Given the description of an element on the screen output the (x, y) to click on. 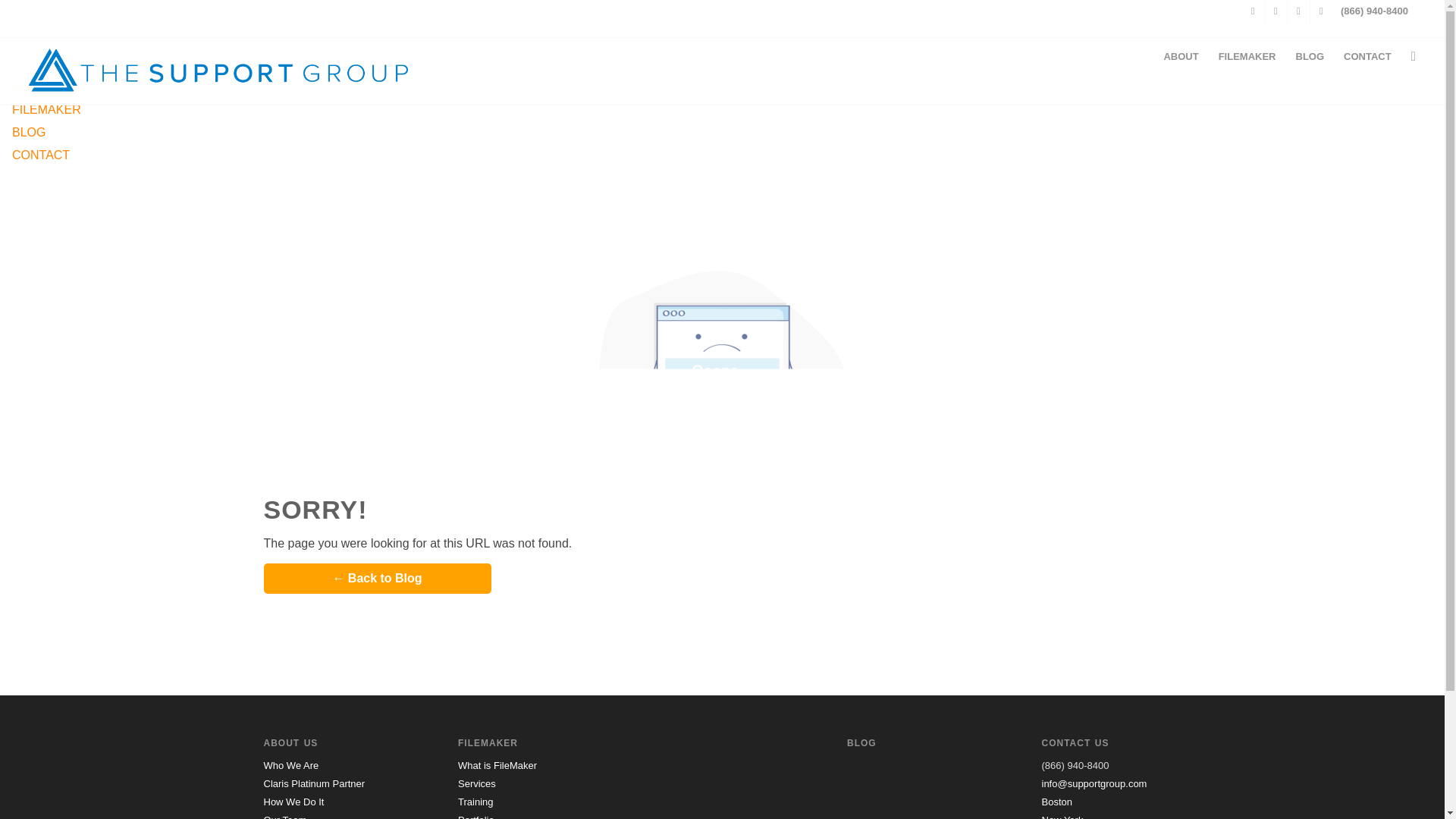
FILEMAKER (1246, 56)
Twitter (1252, 11)
CONTACT (727, 155)
Youtube (1321, 11)
ABOUT (727, 86)
Facebook (1276, 11)
ABOUT (1180, 56)
BLOG (727, 132)
BLOG (1310, 56)
Linkedin (1297, 11)
